Given the description of an element on the screen output the (x, y) to click on. 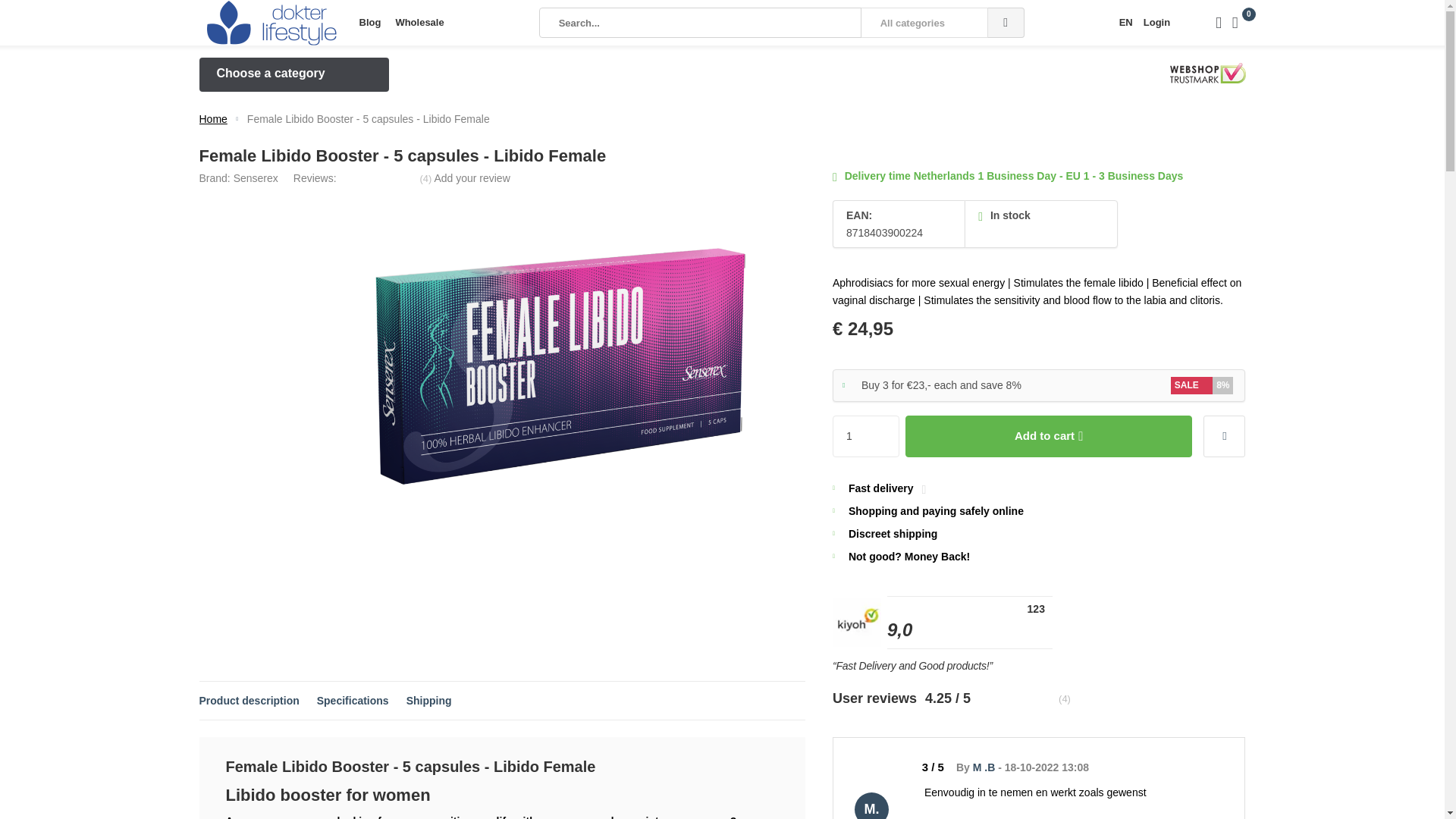
Choose a category (293, 74)
Search (1006, 22)
Search (1006, 22)
Wholesale (419, 22)
